Given the description of an element on the screen output the (x, y) to click on. 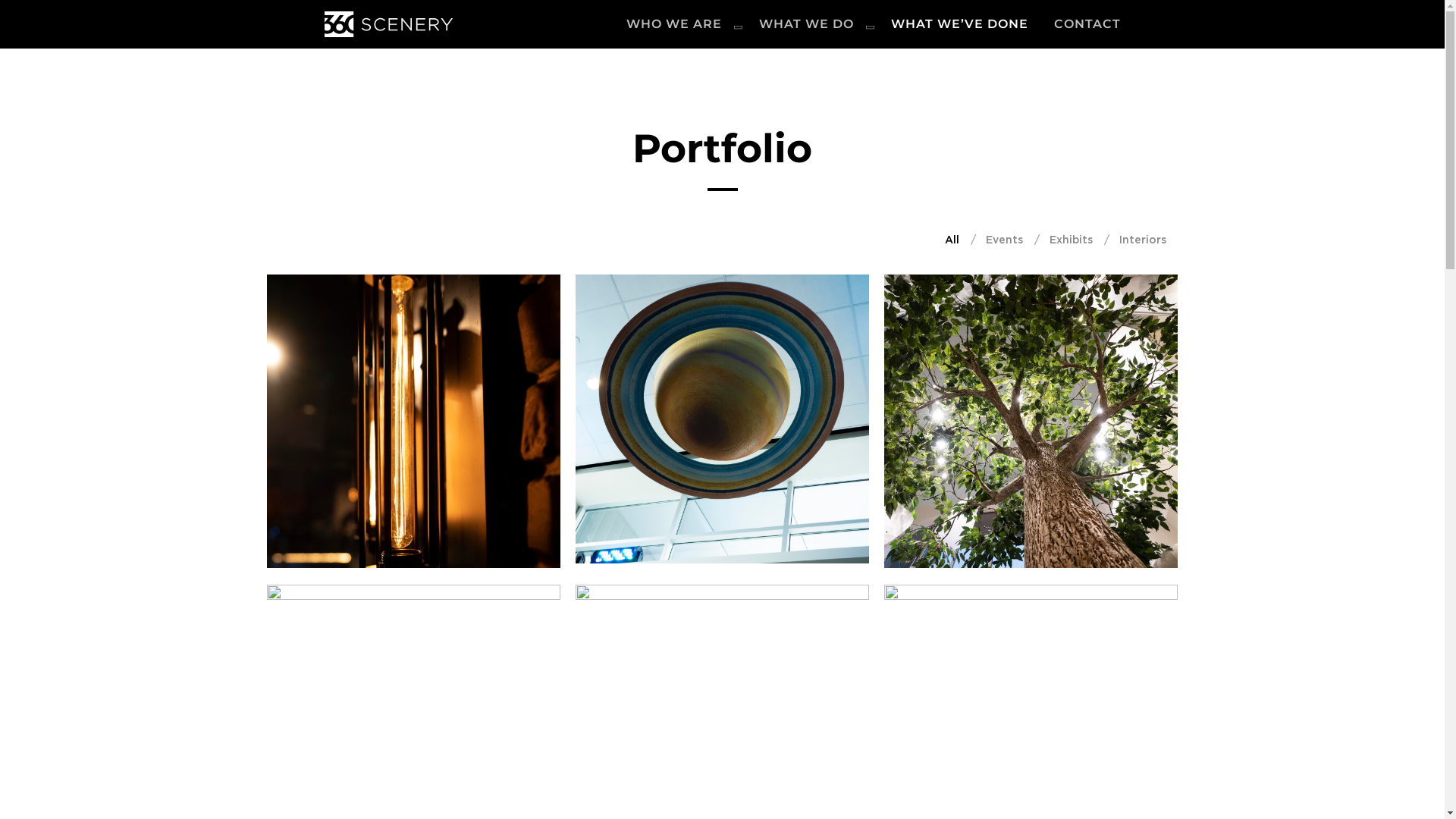
WHAT WE DO Element type: text (811, 24)
CONTACT Element type: text (1086, 24)
WHO WE ARE Element type: text (678, 24)
